Given the description of an element on the screen output the (x, y) to click on. 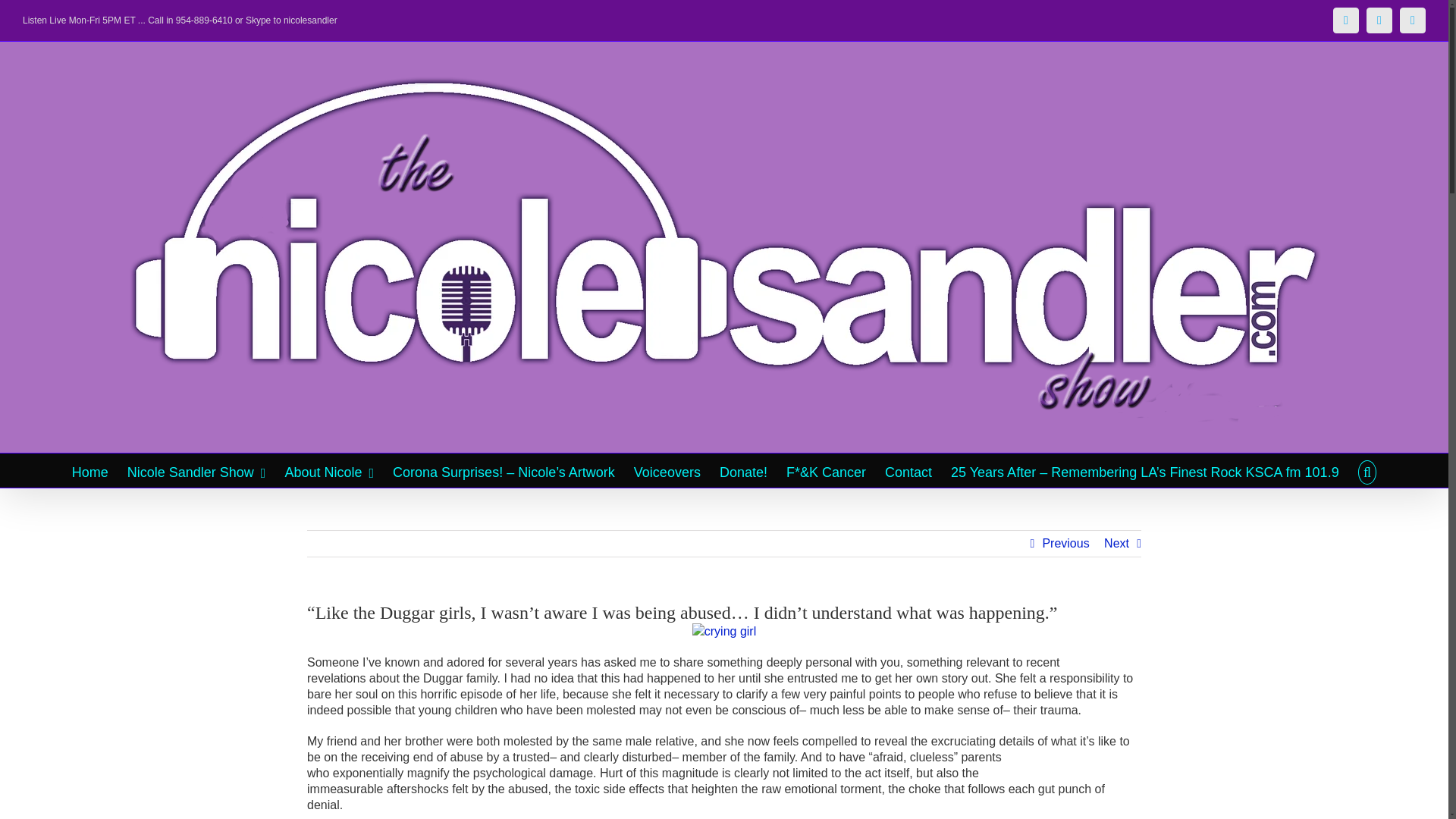
Facebook (1345, 20)
Contact (908, 470)
X (1379, 20)
Donate! (743, 470)
X (1379, 20)
Facebook (1345, 20)
YouTube (1412, 20)
About Nicole (328, 470)
Nicole Sandler Show (197, 470)
Home (89, 470)
